Given the description of an element on the screen output the (x, y) to click on. 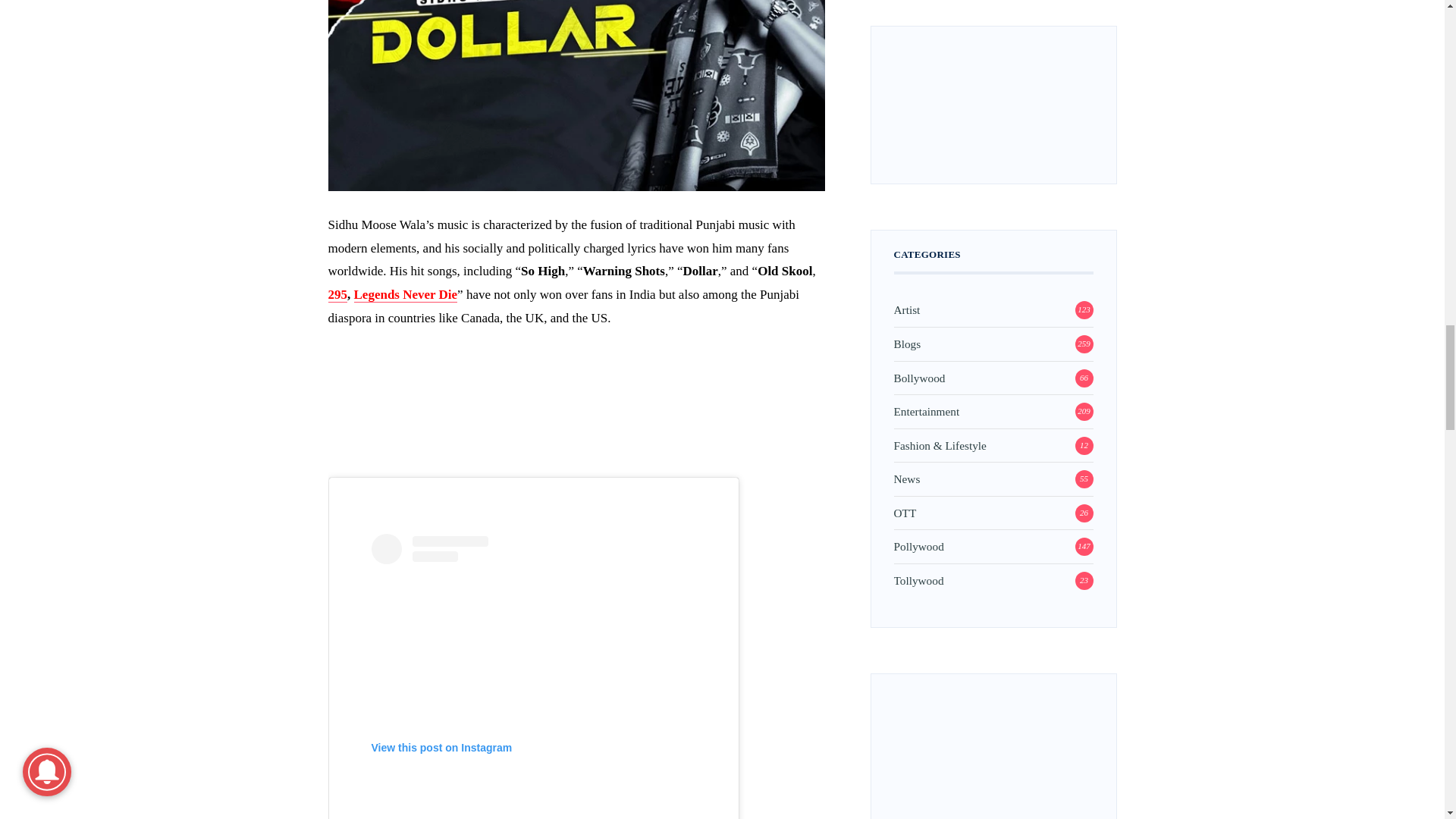
295 (337, 294)
Advertisement (575, 414)
Legends Never Die (405, 294)
